Given the description of an element on the screen output the (x, y) to click on. 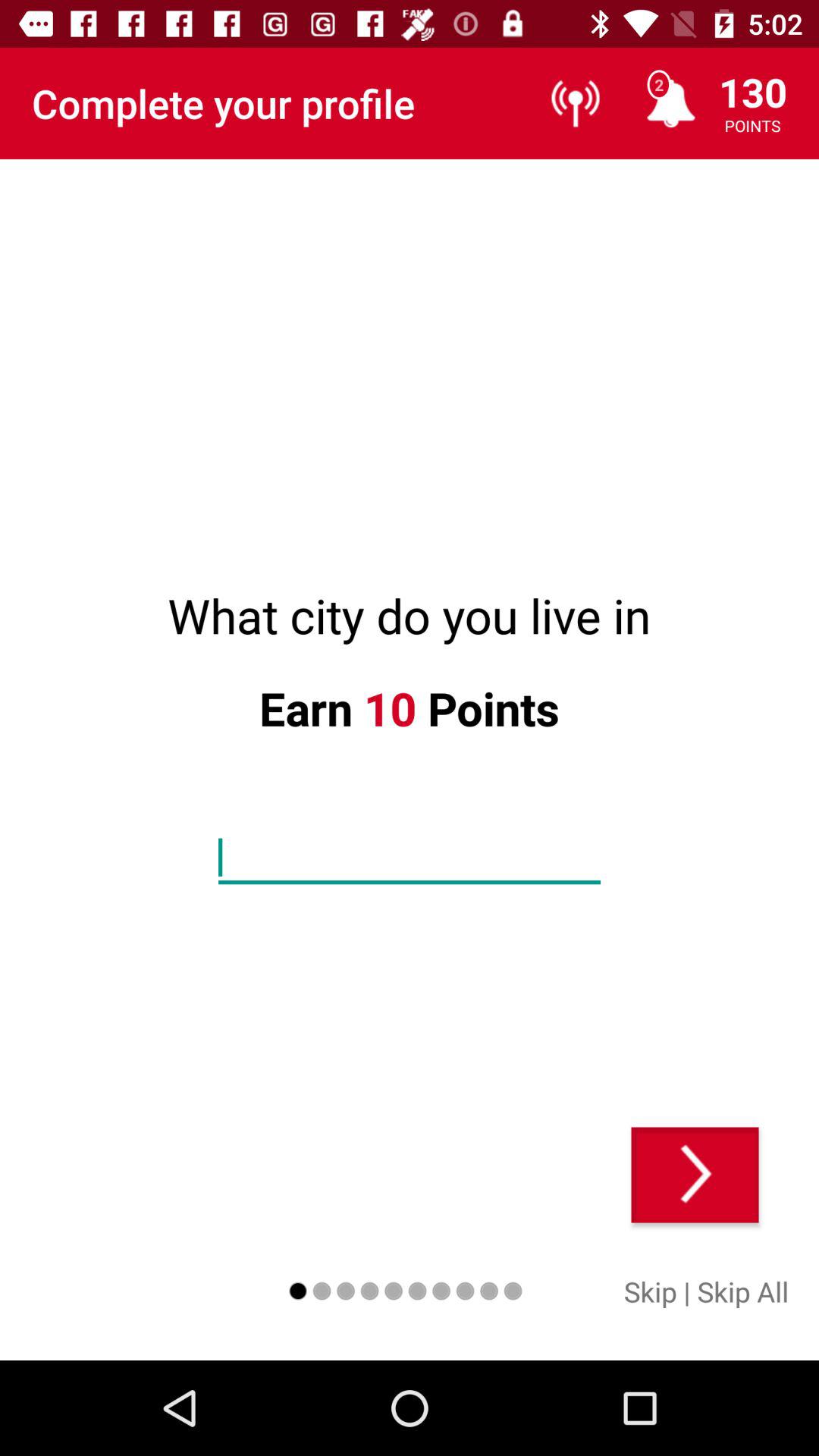
go next icon (694, 1174)
